Given the description of an element on the screen output the (x, y) to click on. 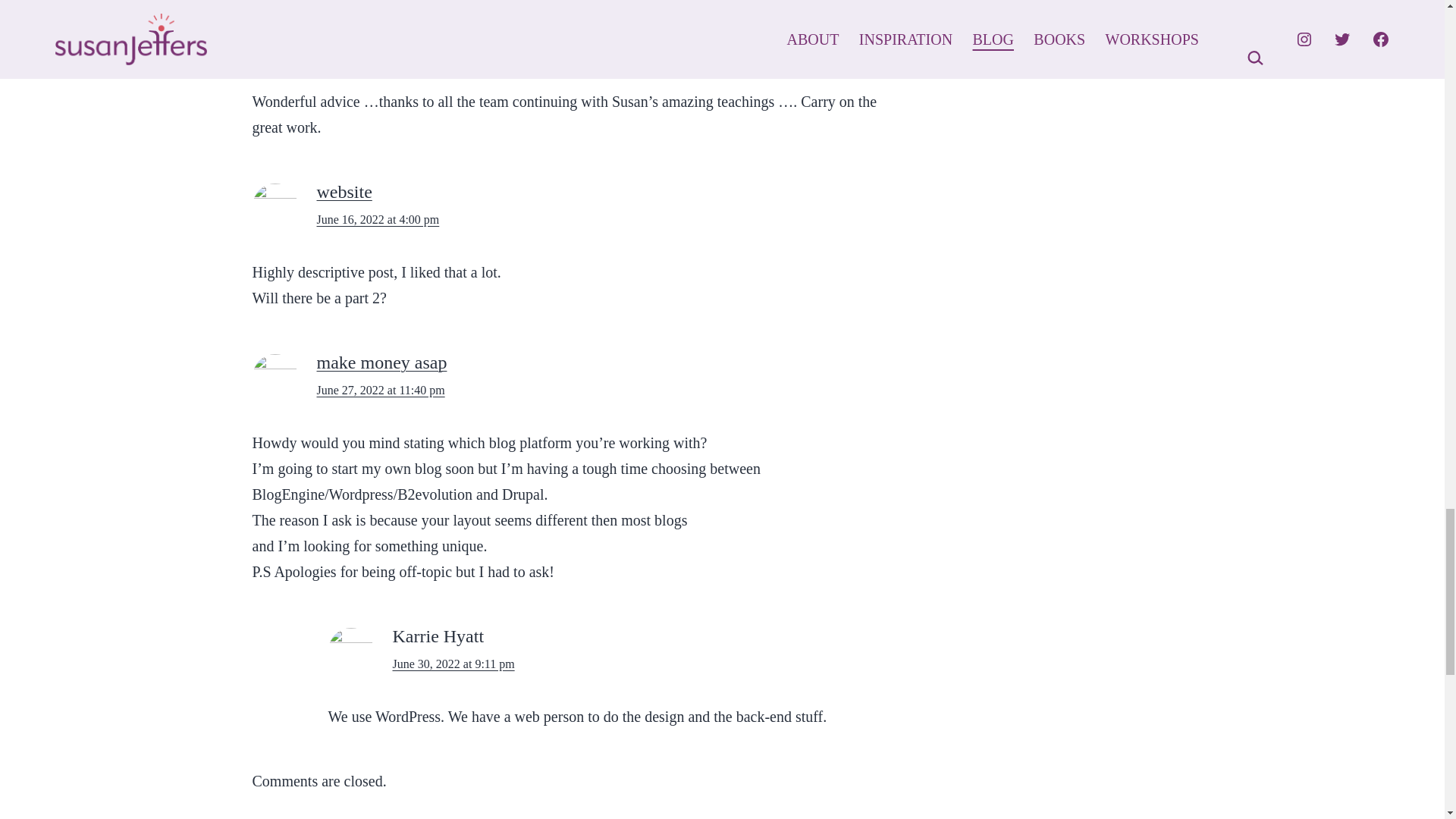
make money asap (381, 362)
website (344, 191)
June 30, 2022 at 9:11 pm (454, 663)
June 27, 2022 at 11:40 pm (381, 390)
June 12, 2022 at 5:19 am (378, 48)
June 16, 2022 at 4:00 pm (378, 219)
